Given the description of an element on the screen output the (x, y) to click on. 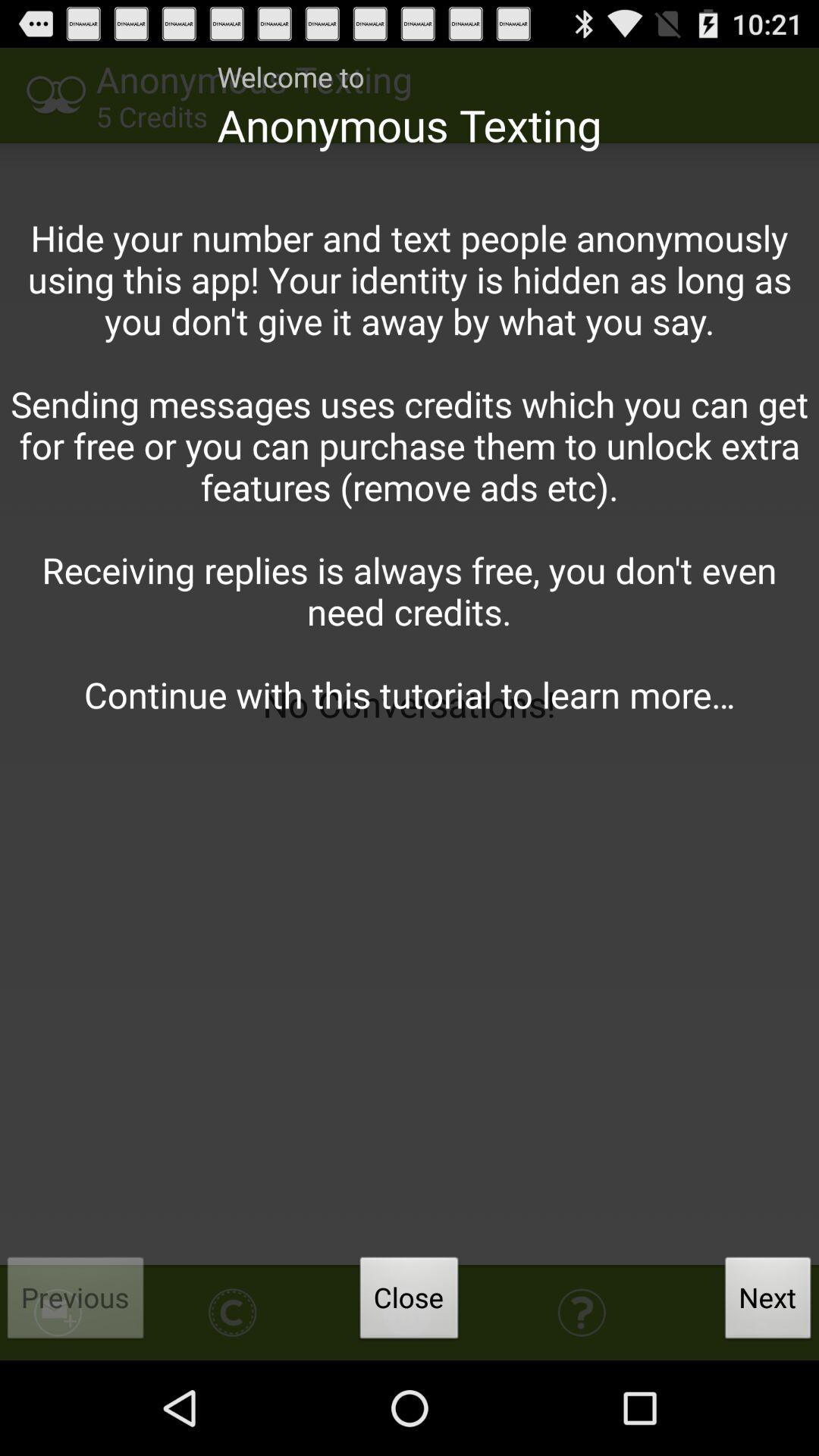
turn on icon below hide your number app (75, 1302)
